Given the description of an element on the screen output the (x, y) to click on. 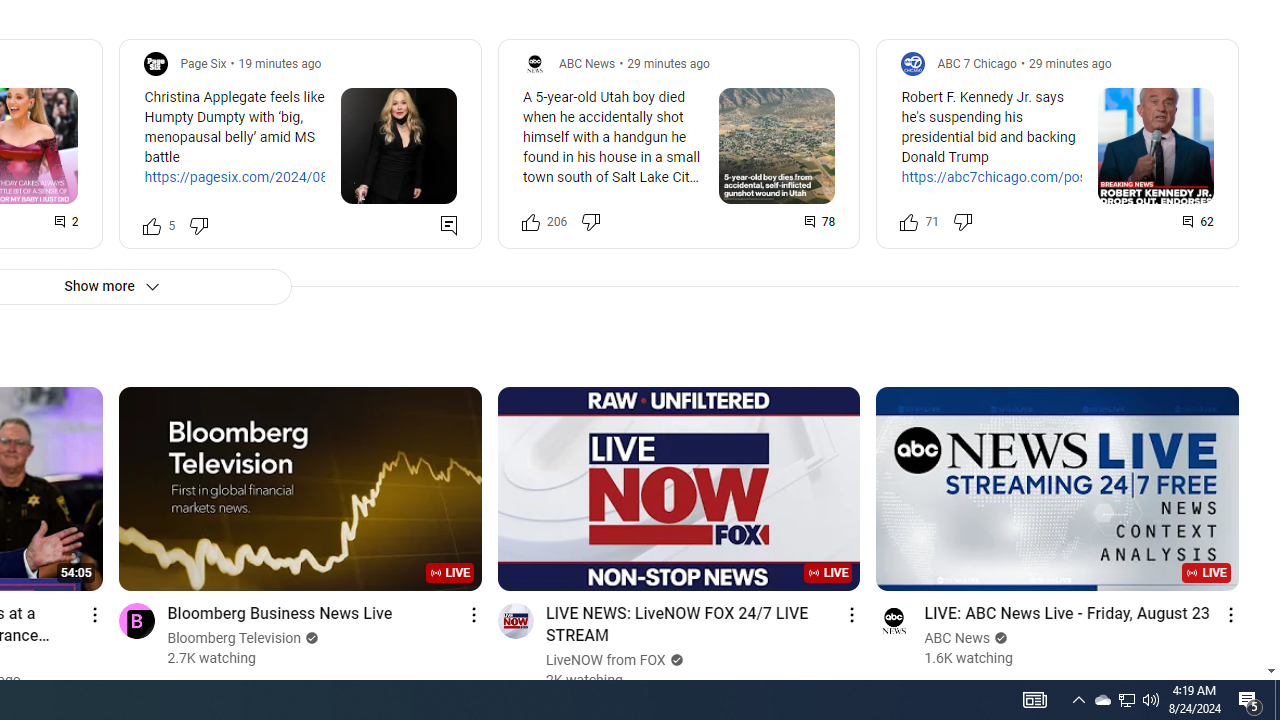
ABC 7 Chicago (976, 63)
Like this post along with 5 other people (151, 224)
Bloomberg Television (234, 637)
Page Six (203, 63)
ABC News (958, 637)
